Given the description of an element on the screen output the (x, y) to click on. 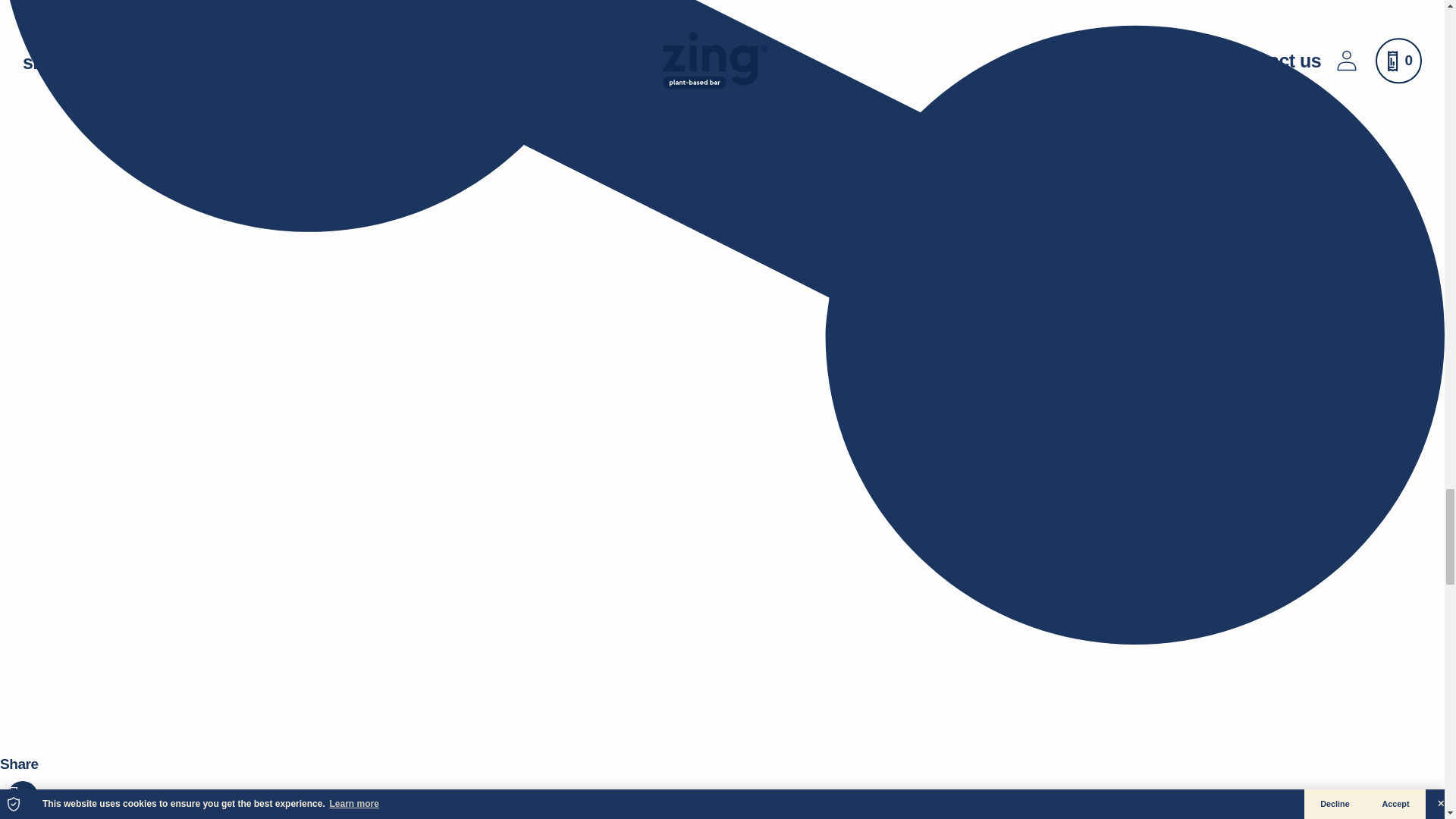
Facebook (80, 814)
Facebook (47, 804)
